Given the description of an element on the screen output the (x, y) to click on. 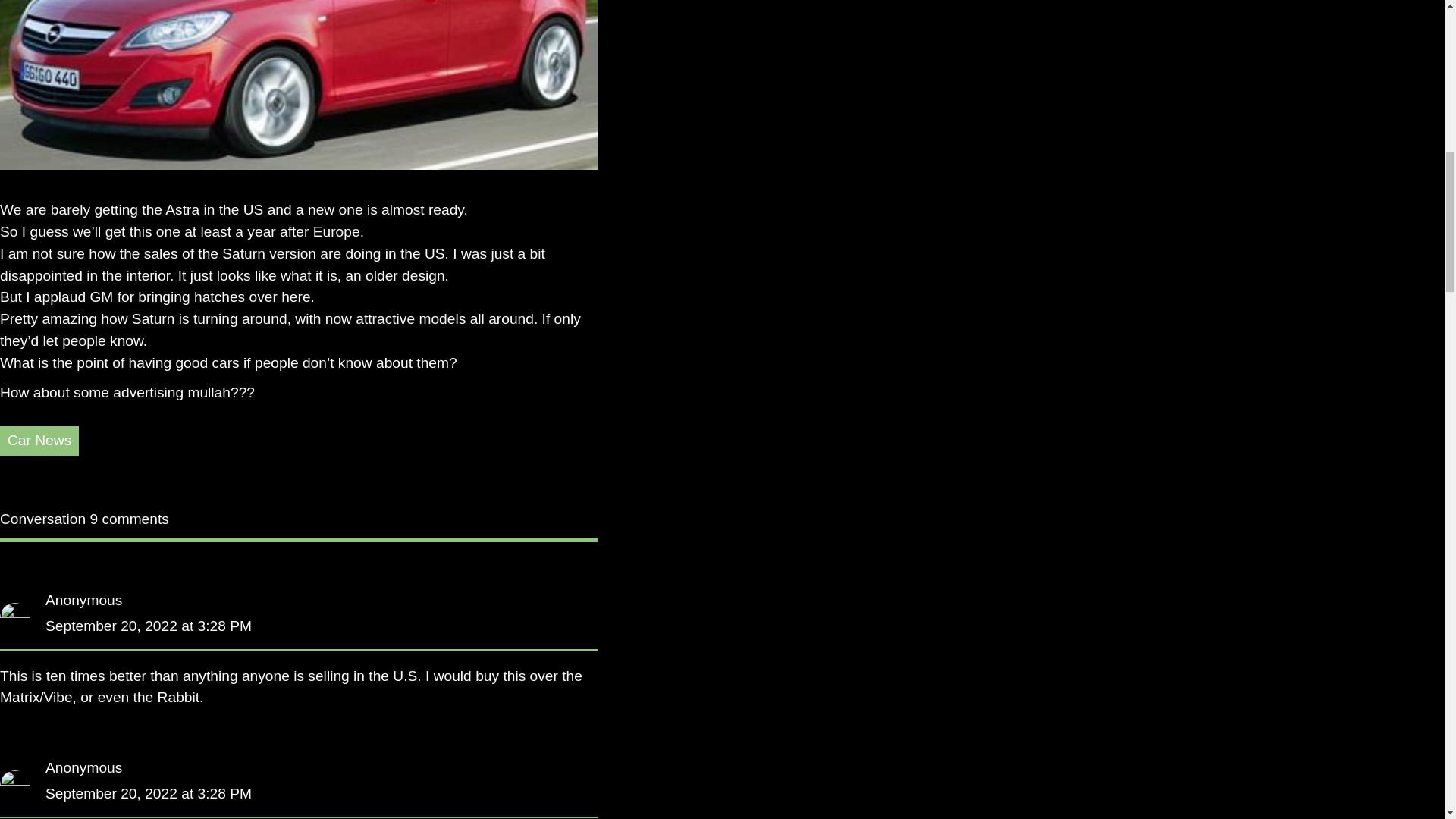
Car News (39, 439)
September 20, 2022 at 3:28 PM (148, 793)
September 20, 2022 at 3:28 PM (148, 625)
